Given the description of an element on the screen output the (x, y) to click on. 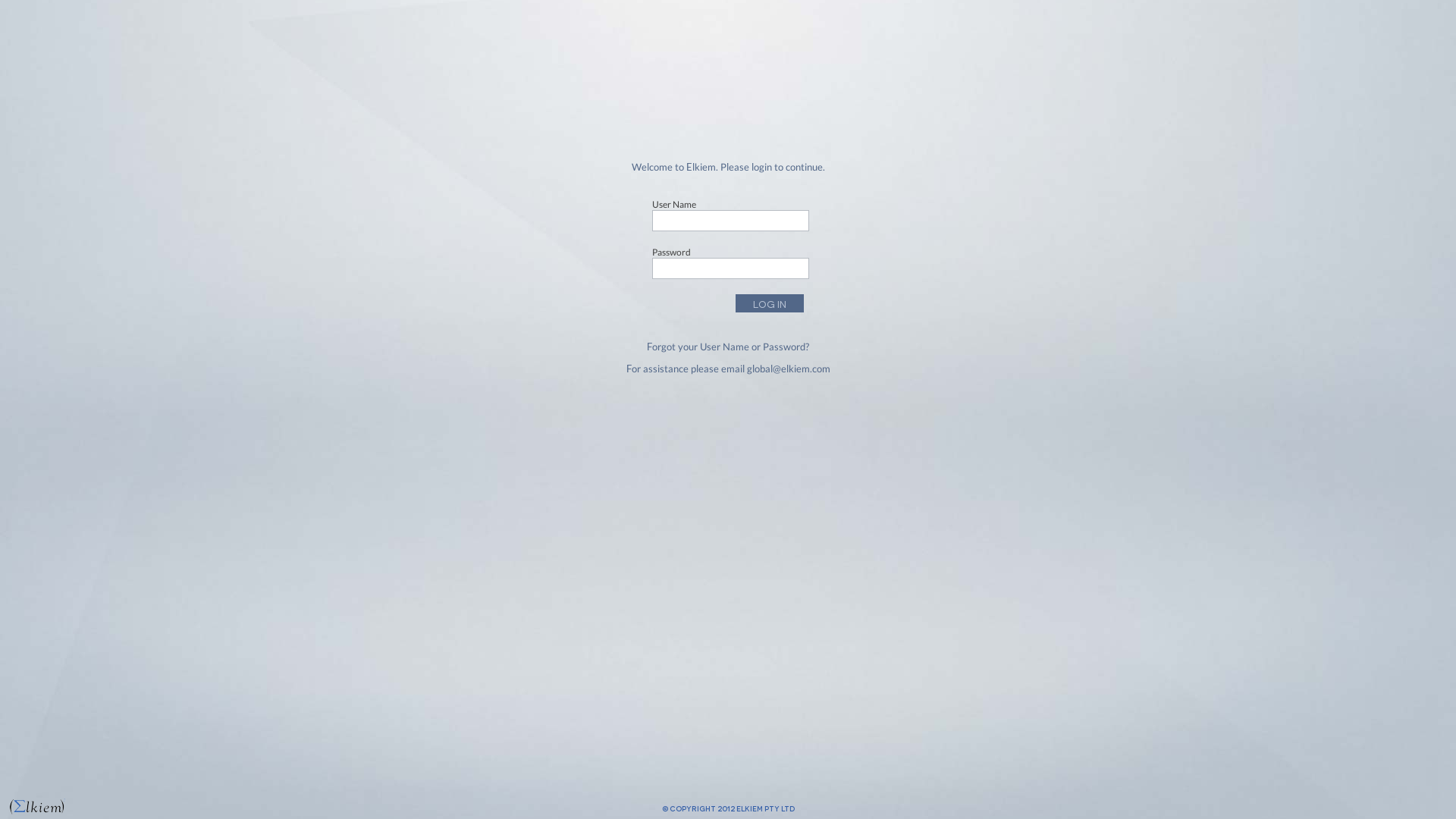
global@elkiem.com Element type: text (787, 368)
Forgot your User Name or Password? Element type: text (727, 346)
Log in Element type: text (769, 303)
